Given the description of an element on the screen output the (x, y) to click on. 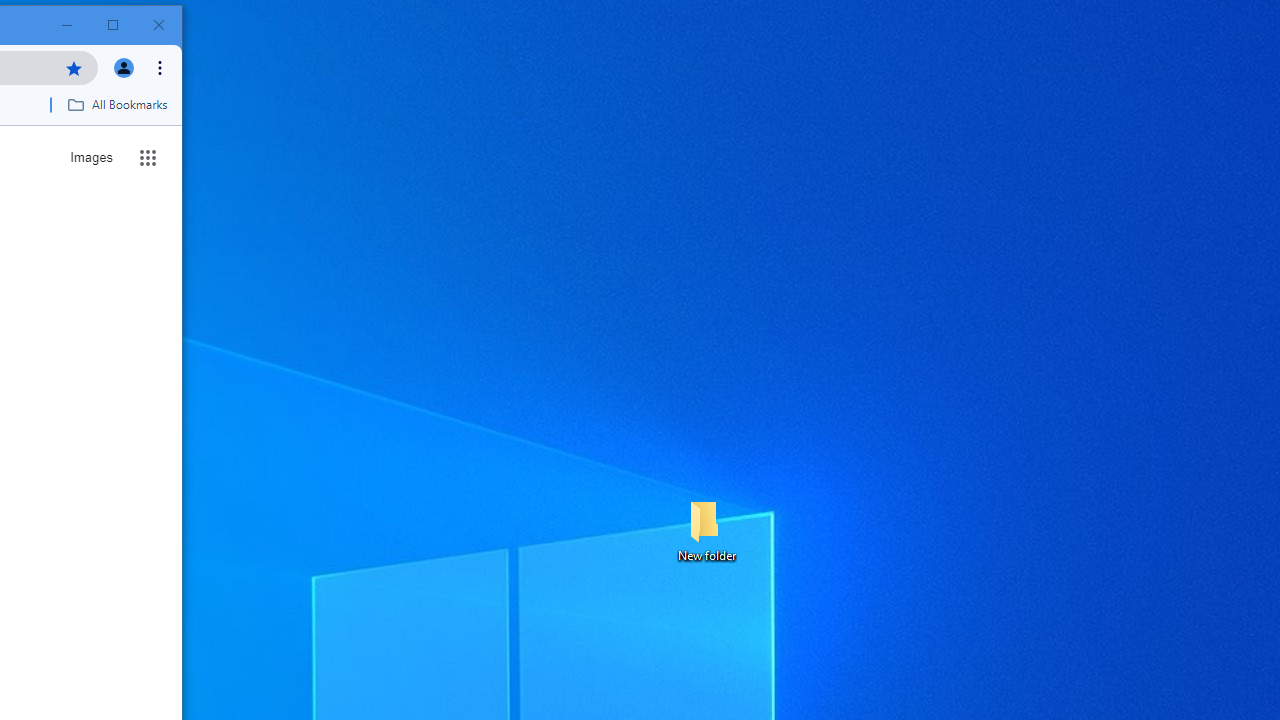
New folder (706, 530)
